Given the description of an element on the screen output the (x, y) to click on. 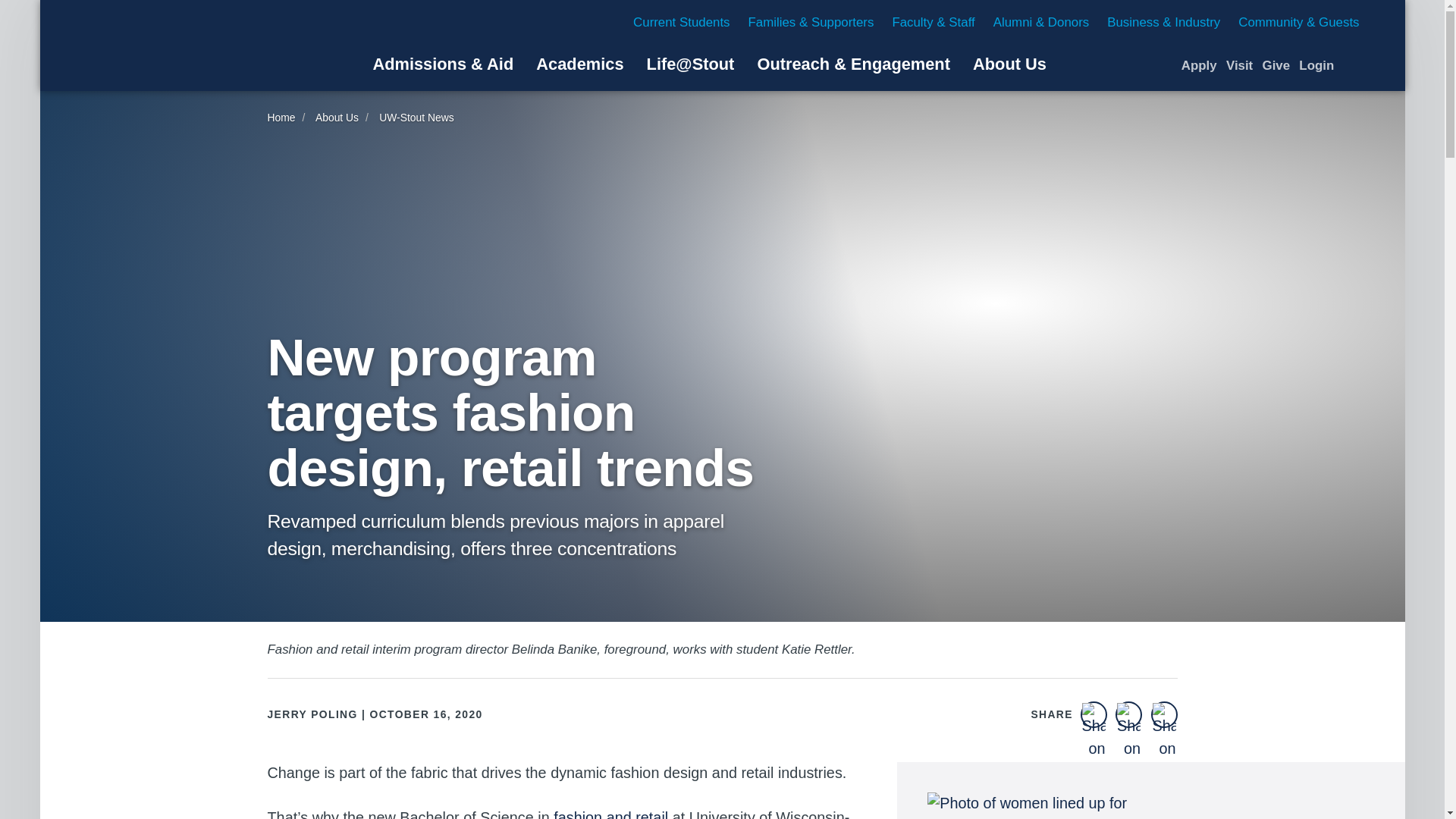
Current Students (681, 22)
University of Wisconsin-Stout (167, 45)
University of Wisconsin-Stout (167, 45)
Common Logins for UW-Stout (1315, 65)
Academics (579, 63)
About Us (1009, 63)
